Given the description of an element on the screen output the (x, y) to click on. 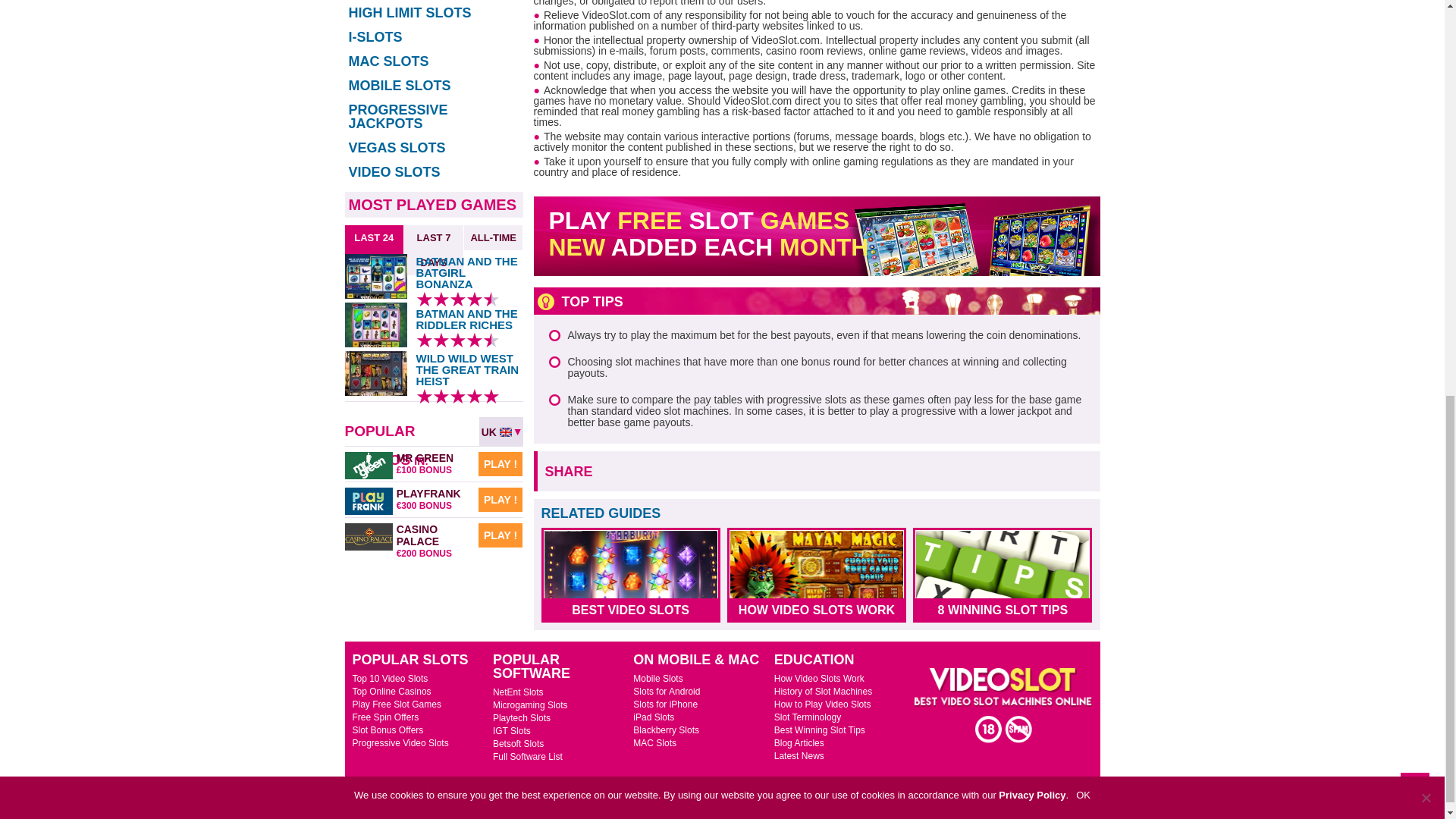
No (1425, 23)
